Given the description of an element on the screen output the (x, y) to click on. 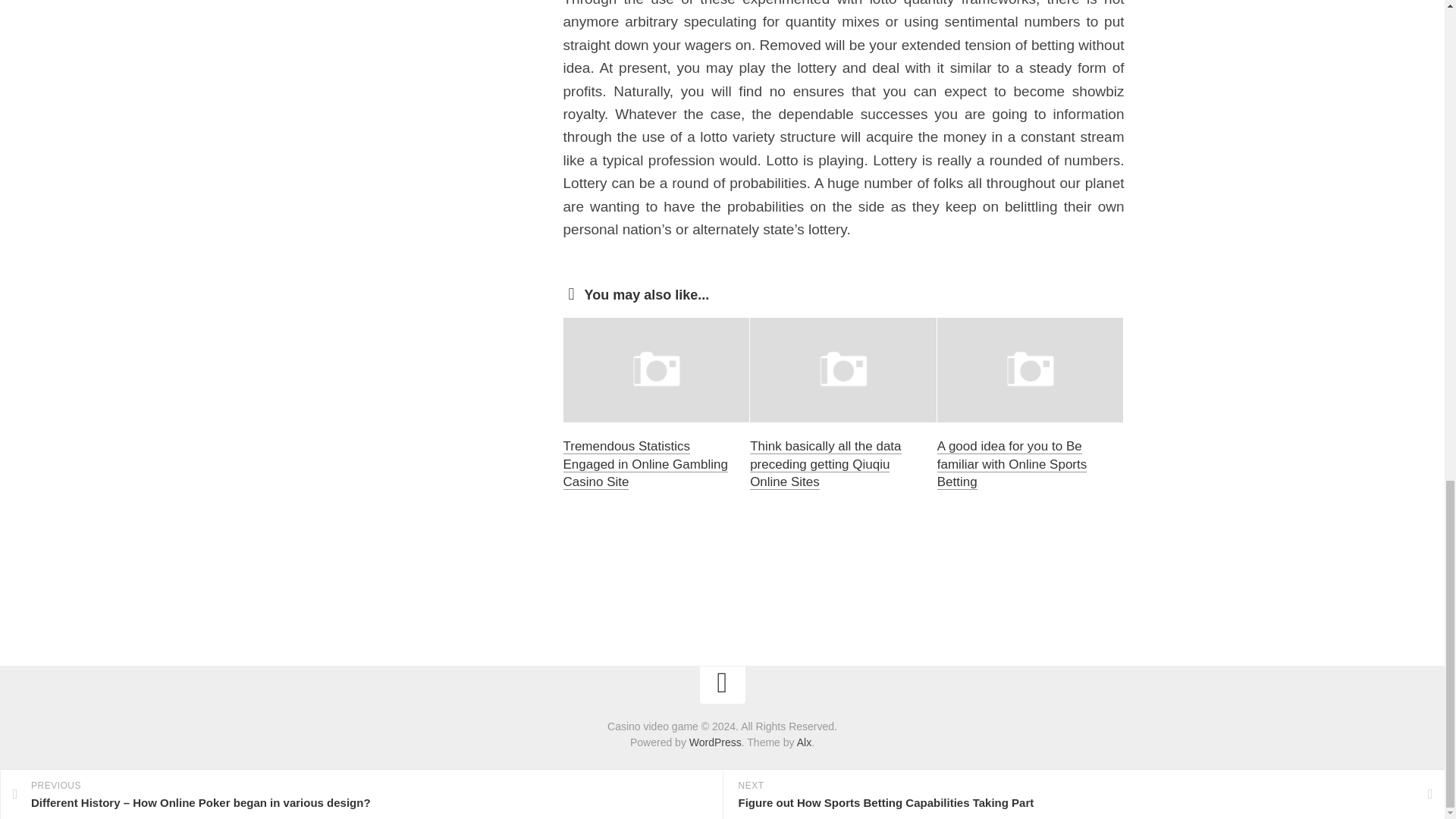
WordPress (714, 742)
Alx (803, 742)
Tremendous Statistics Engaged in Online Gambling Casino Site (644, 463)
